Given the description of an element on the screen output the (x, y) to click on. 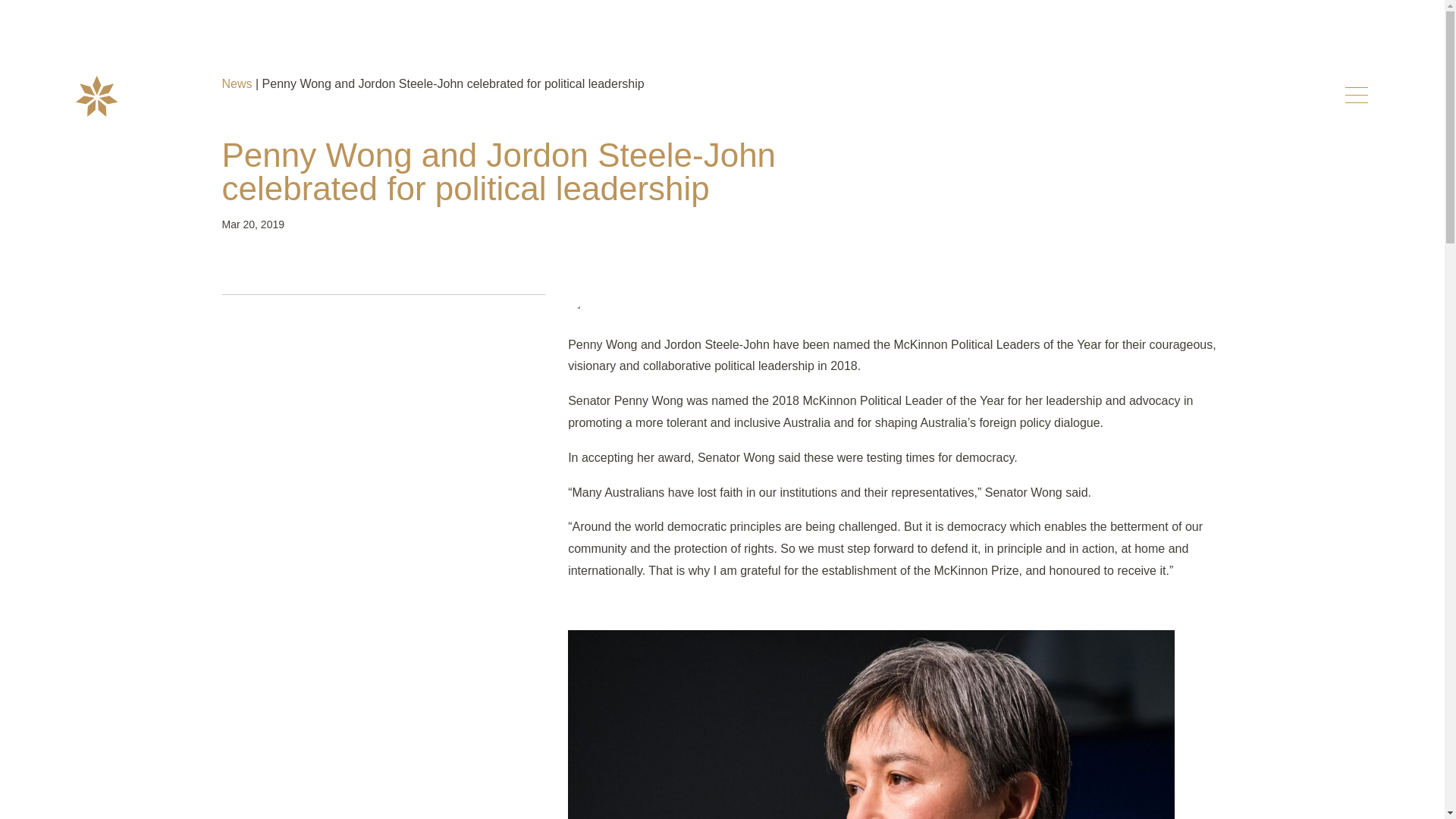
News (236, 83)
